Given the description of an element on the screen output the (x, y) to click on. 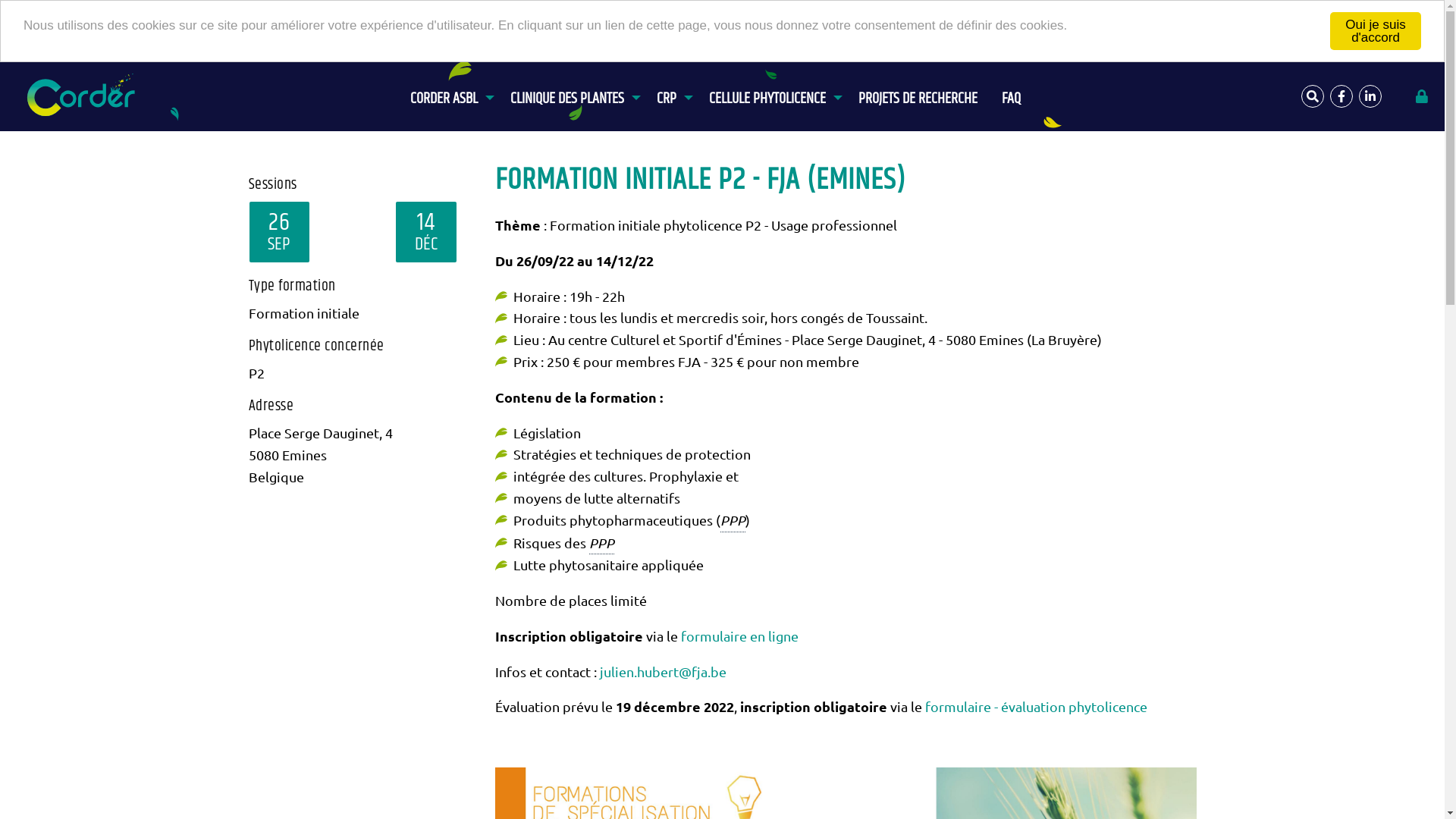
PROJETS DE RECHERCHE Element type: text (917, 90)
CELLULE PHYTOLICENCE Element type: text (771, 90)
Aller au contenu principal Element type: text (0, 61)
CRP Element type: text (670, 90)
PPP Element type: hover (732, 520)
PPP Element type: hover (600, 543)
Recherche Element type: hover (1312, 95)
Lien vers la page Facebook CORDER Element type: hover (1341, 95)
FAQ Element type: text (1010, 90)
CORDER ASBL Element type: text (448, 90)
julien.hubert@fja.be Element type: text (662, 671)
Accueil CORDER ASBL Element type: hover (84, 95)
formulaire en ligne Element type: text (739, 635)
CLINIQUE DES PLANTES Element type: text (571, 90)
Oui je suis d'accord Element type: text (1375, 31)
